Given the description of an element on the screen output the (x, y) to click on. 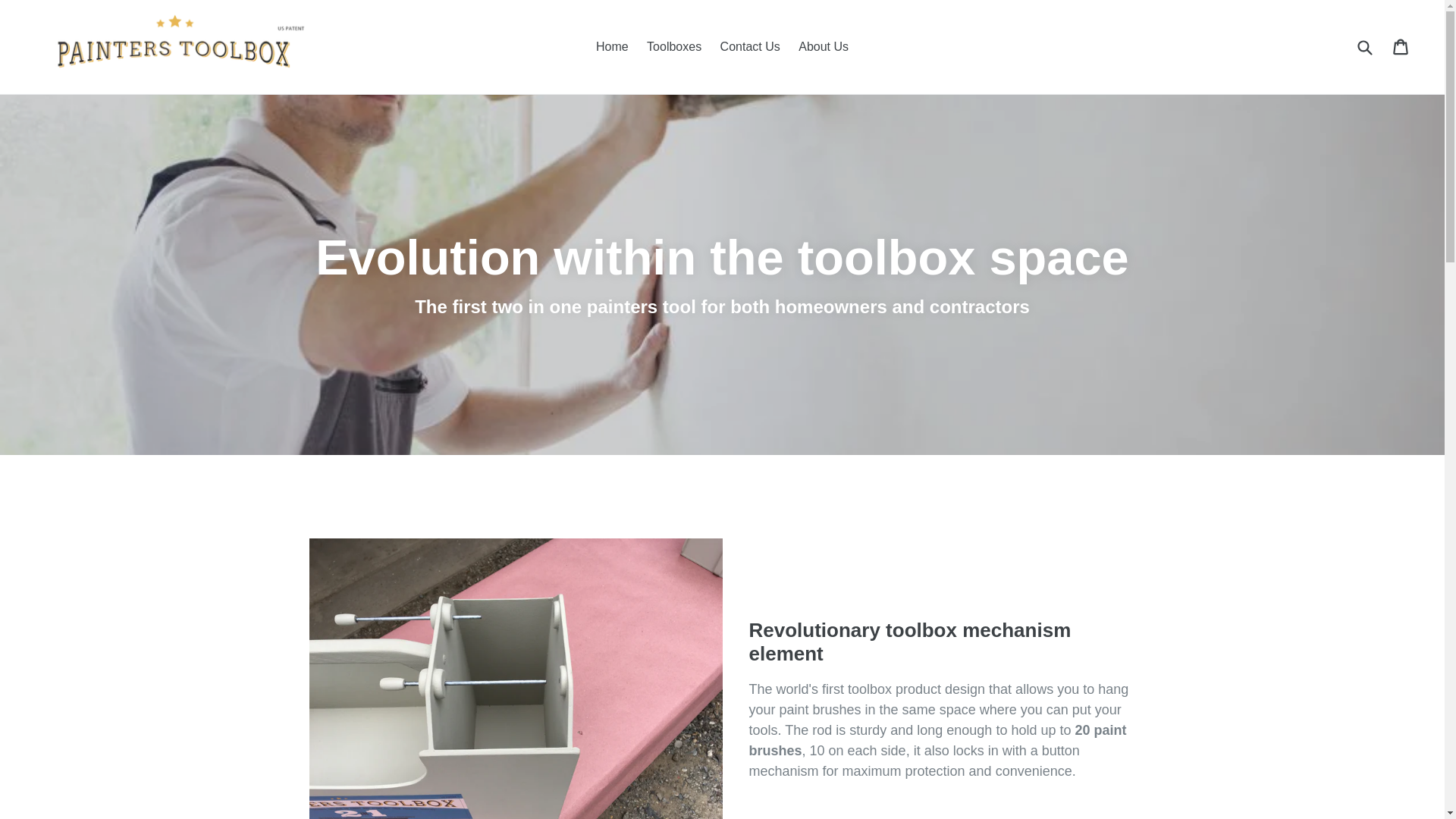
Contact Us Element type: text (749, 46)
About Us Element type: text (823, 46)
Home Element type: text (612, 46)
Cart
Cart Element type: text (1401, 46)
Submit Element type: text (1363, 46)
Toolboxes Element type: text (674, 46)
